Given the description of an element on the screen output the (x, y) to click on. 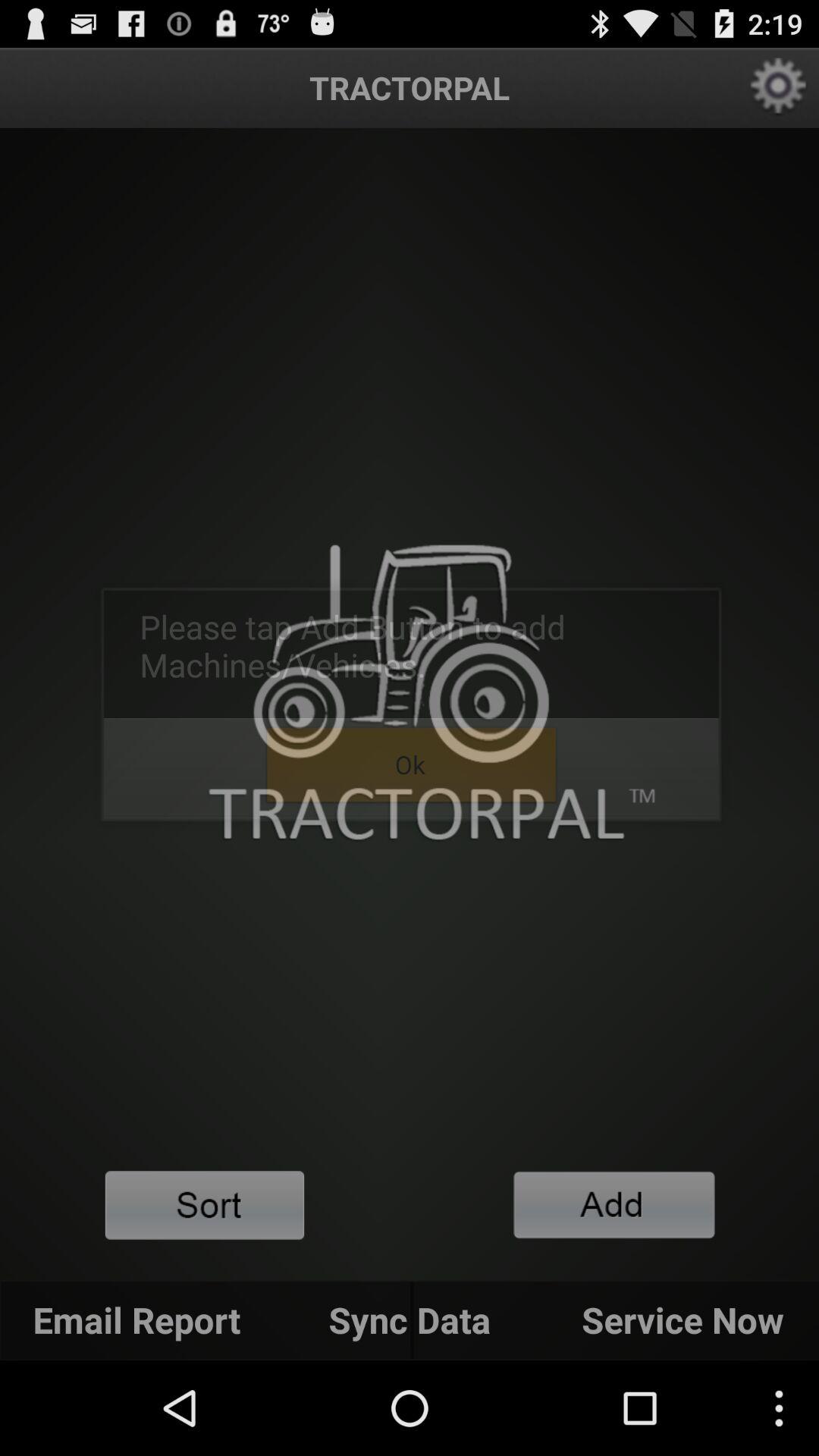
go to the app settings (778, 87)
